Given the description of an element on the screen output the (x, y) to click on. 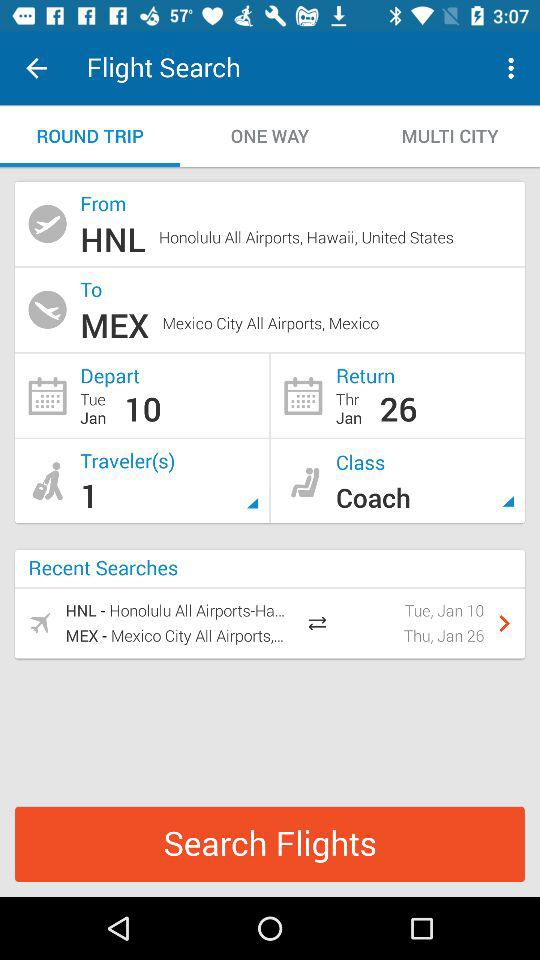
press the search flights icon (269, 843)
